Given the description of an element on the screen output the (x, y) to click on. 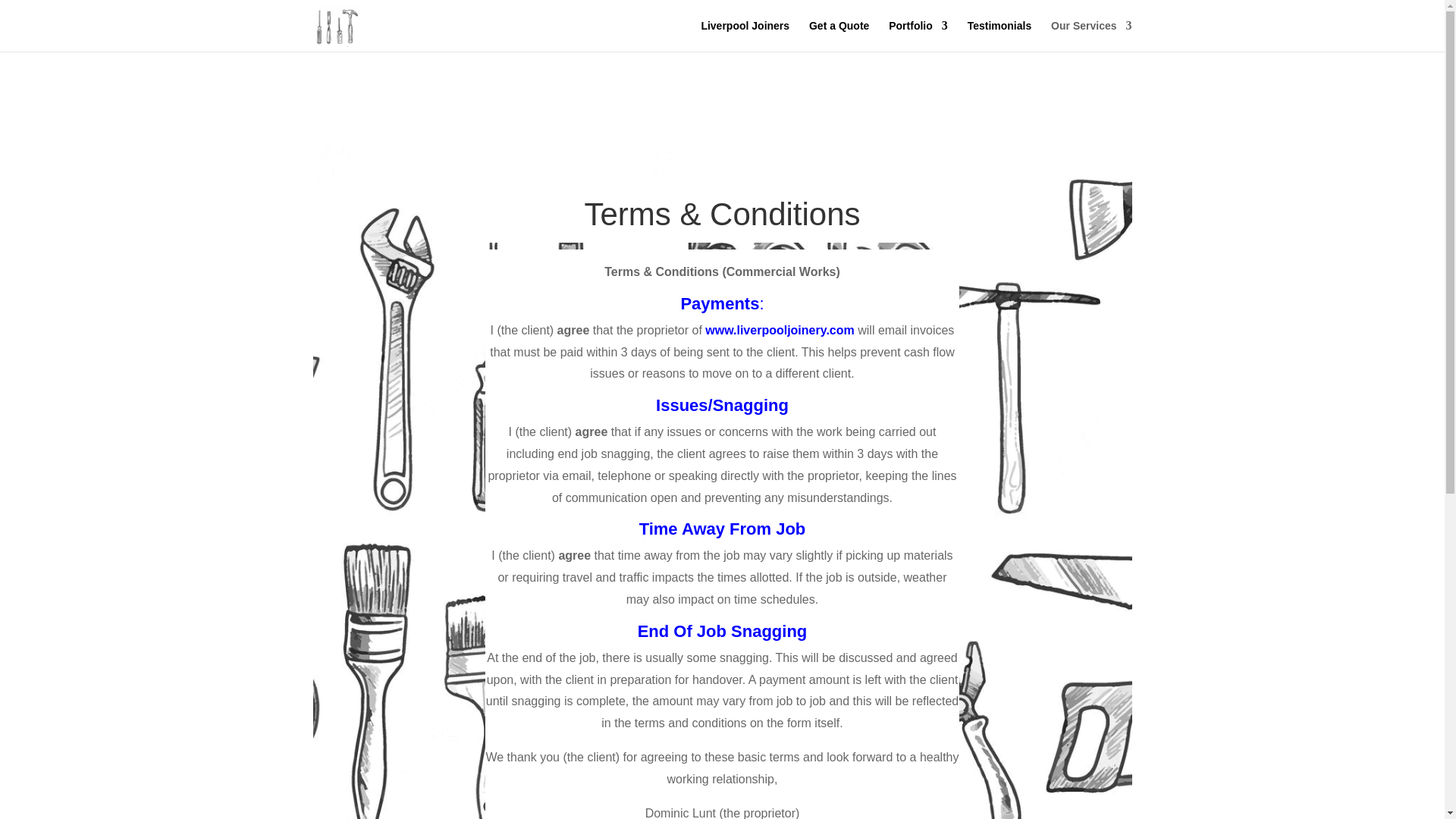
Portfolio (917, 35)
Testimonials (1000, 35)
Liverpool Joiners (744, 35)
Our Services (1091, 35)
www.liverpooljoinery.com (778, 329)
Get a Quote (839, 35)
